Given the description of an element on the screen output the (x, y) to click on. 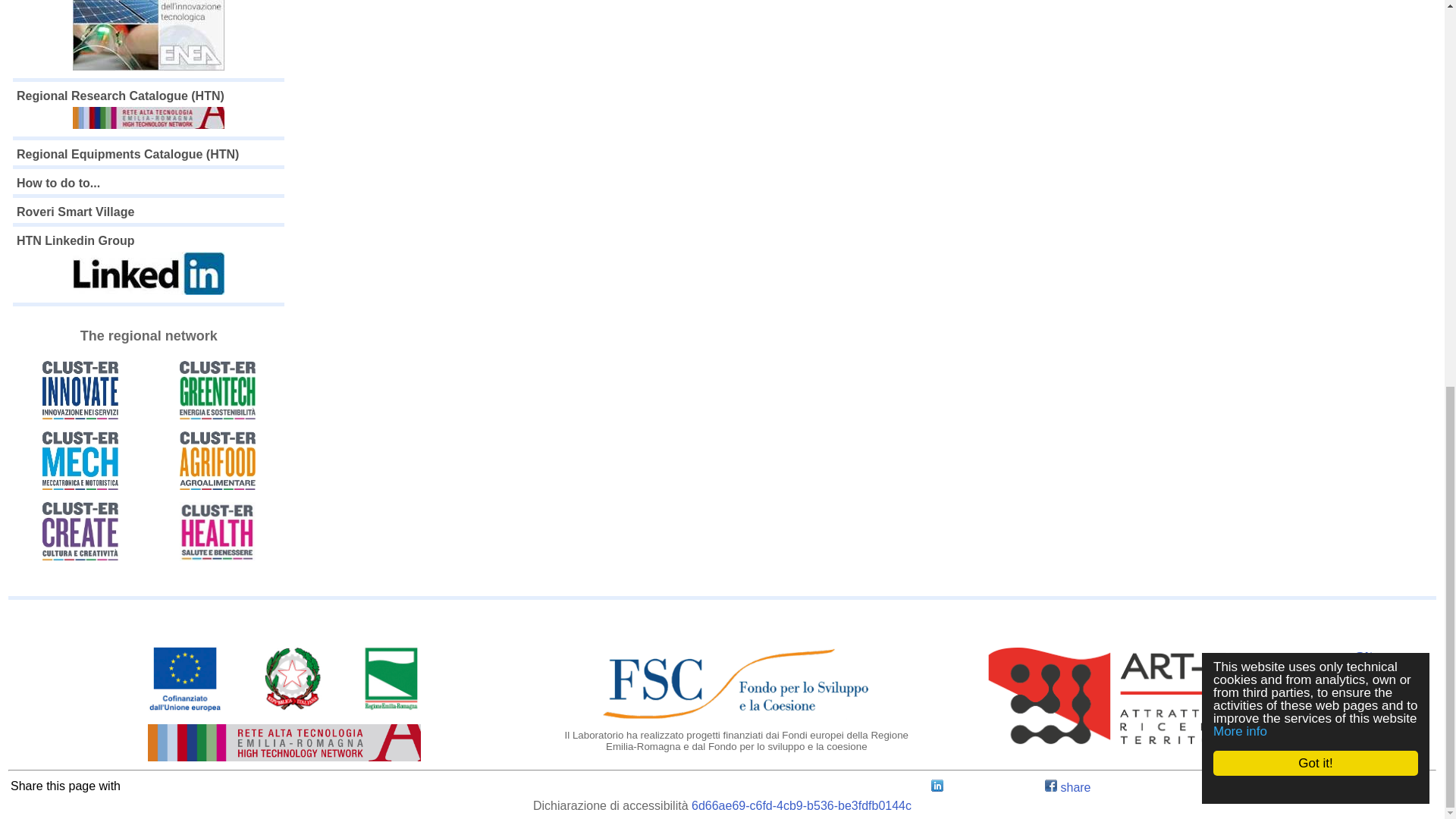
Roveri Smart Village (74, 211)
Technological Innovation ATLAS of ENEA (148, 37)
More info (1254, 4)
How to do to... (58, 182)
Got it! (1330, 33)
HTN Linkedin Group (148, 266)
Cookie Consent plugin for the EU cookie law (1330, 59)
